Given the description of an element on the screen output the (x, y) to click on. 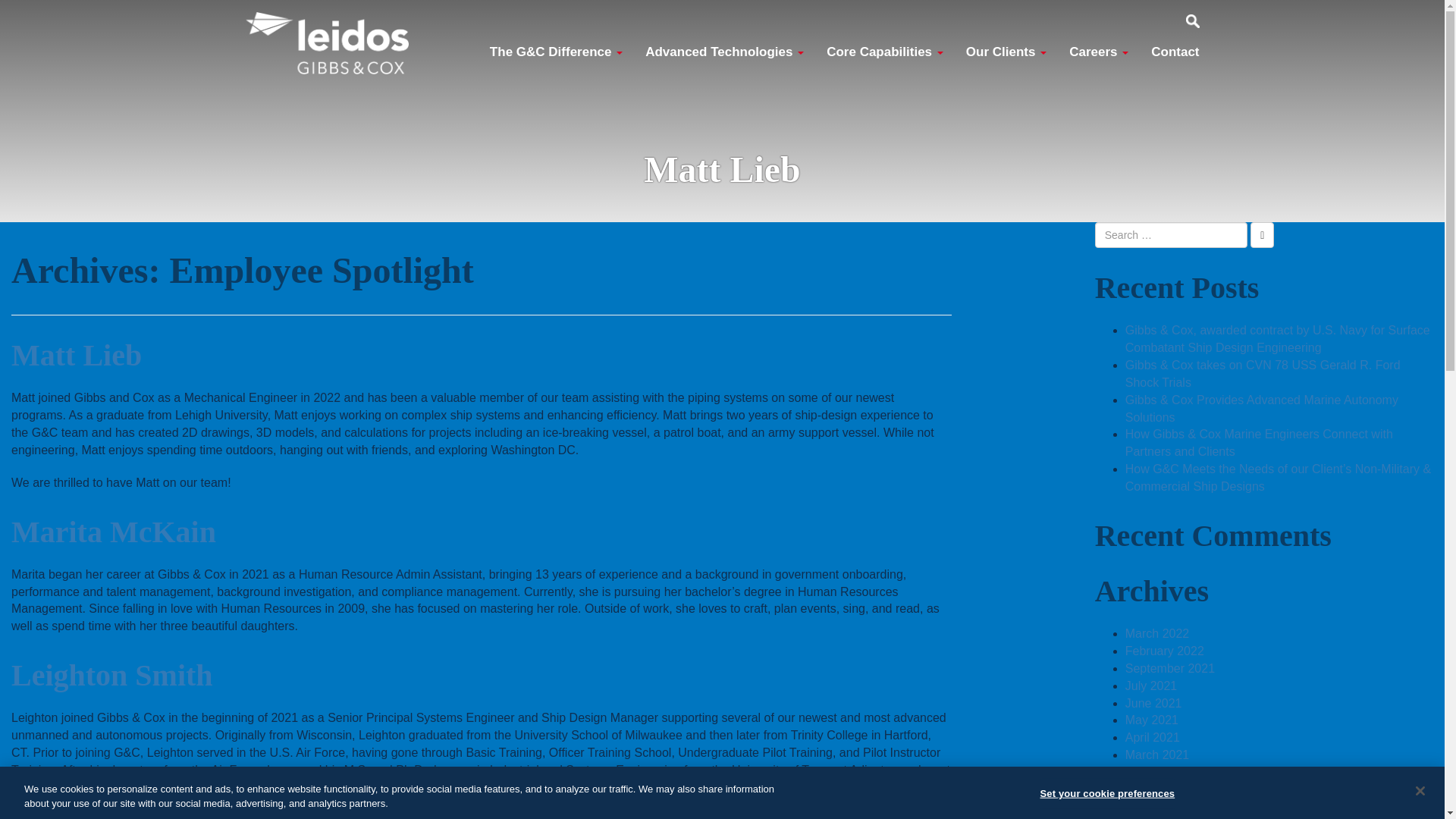
Matt Lieb (76, 355)
Careers (1099, 52)
Marita McKain (113, 531)
Contact (1174, 52)
Advanced Technologies (724, 52)
Core Capabilities (885, 52)
Our Clients (1006, 52)
Leighton Smith (111, 675)
